Given the description of an element on the screen output the (x, y) to click on. 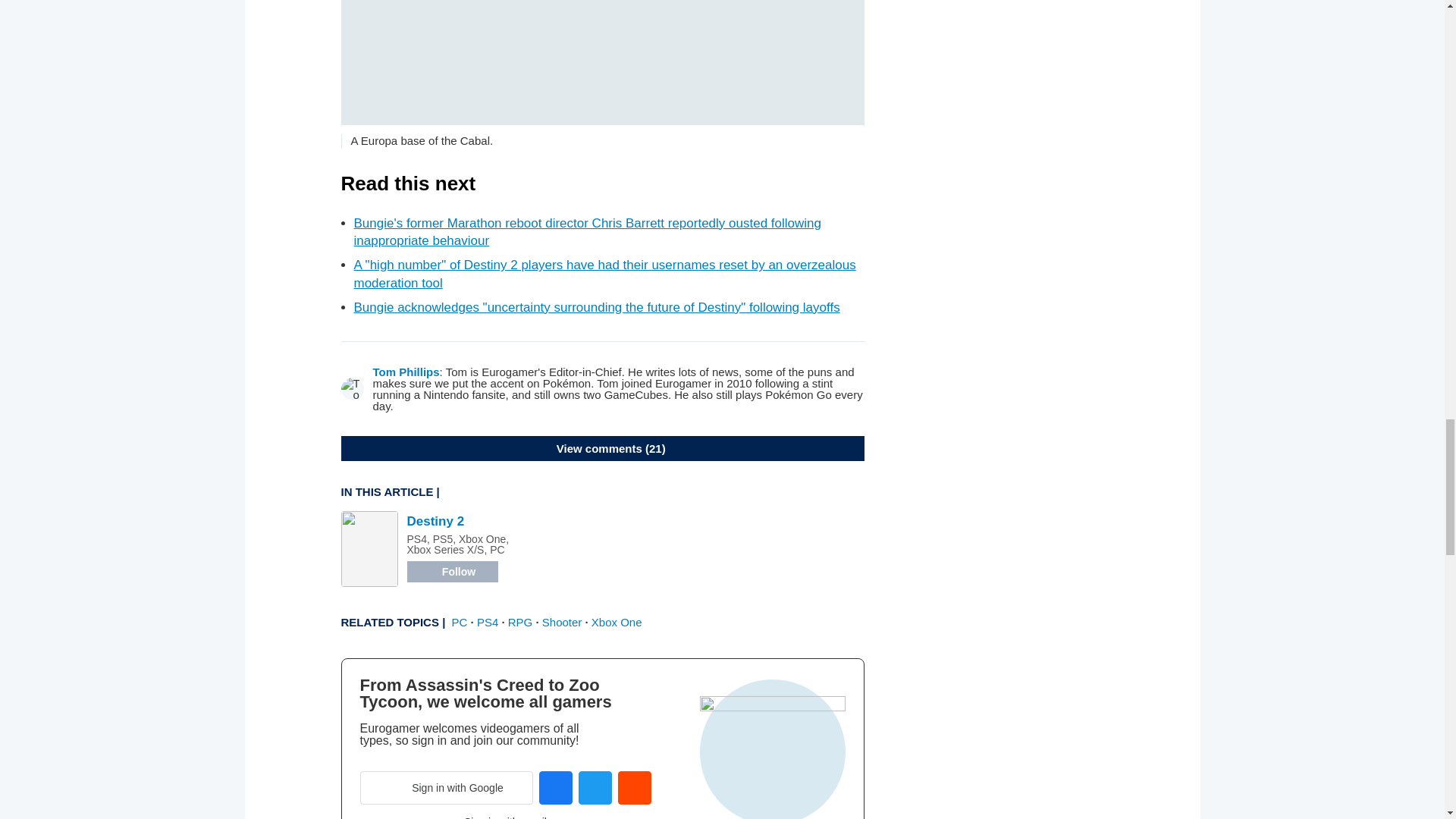
Tom Phillips (405, 371)
